Given the description of an element on the screen output the (x, y) to click on. 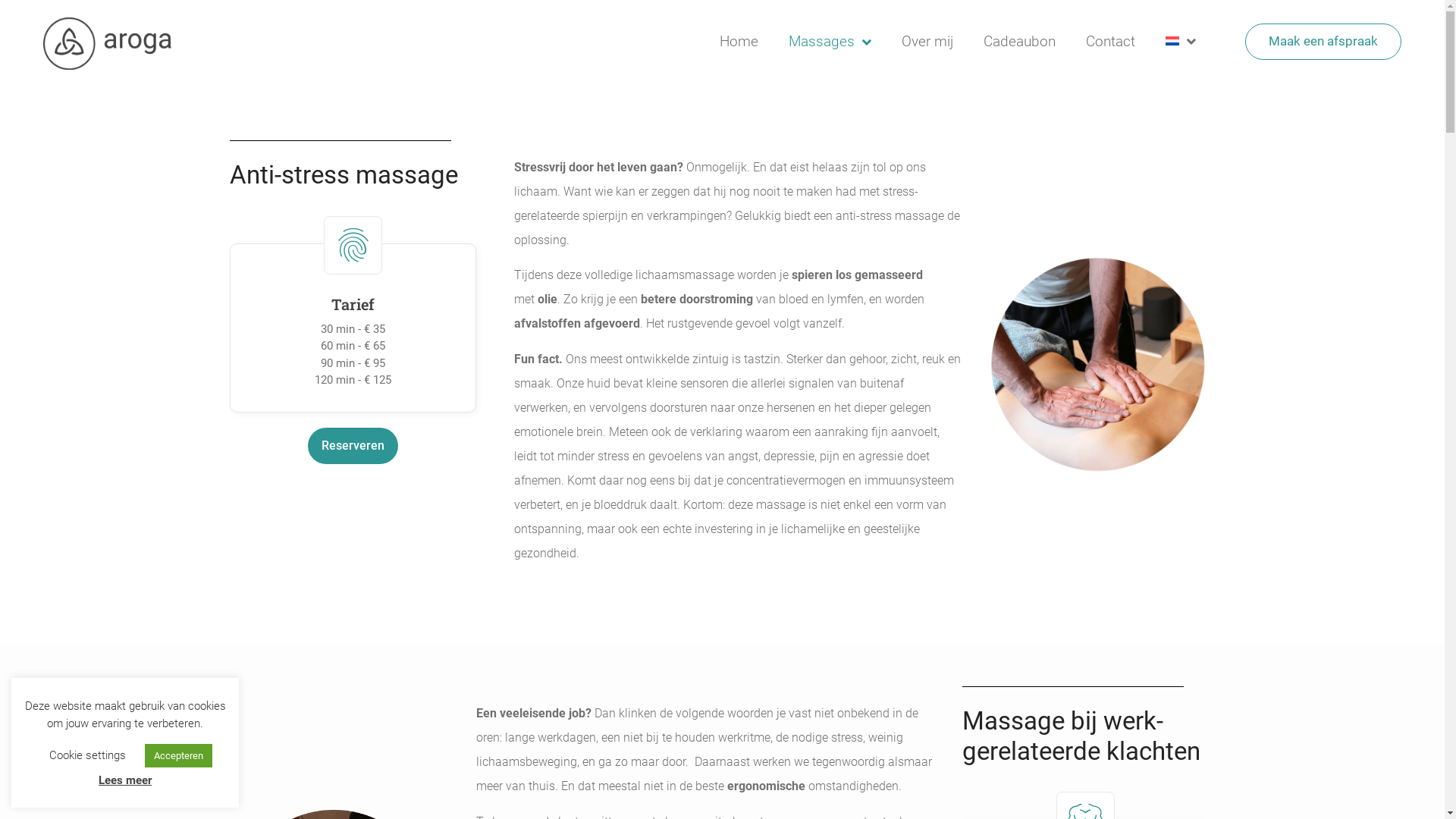
Cadeaubon Element type: text (1019, 41)
Nederlands Element type: hover (1172, 40)
Contact Element type: text (1110, 41)
Maak een afspraak Element type: text (1323, 41)
Massages Element type: text (829, 41)
Reserveren Element type: text (352, 445)
Over mij Element type: text (927, 41)
Cookie settings Element type: text (87, 755)
Home Element type: text (738, 41)
Accepteren Element type: text (178, 755)
Lees meer Element type: text (124, 780)
